Given the description of an element on the screen output the (x, y) to click on. 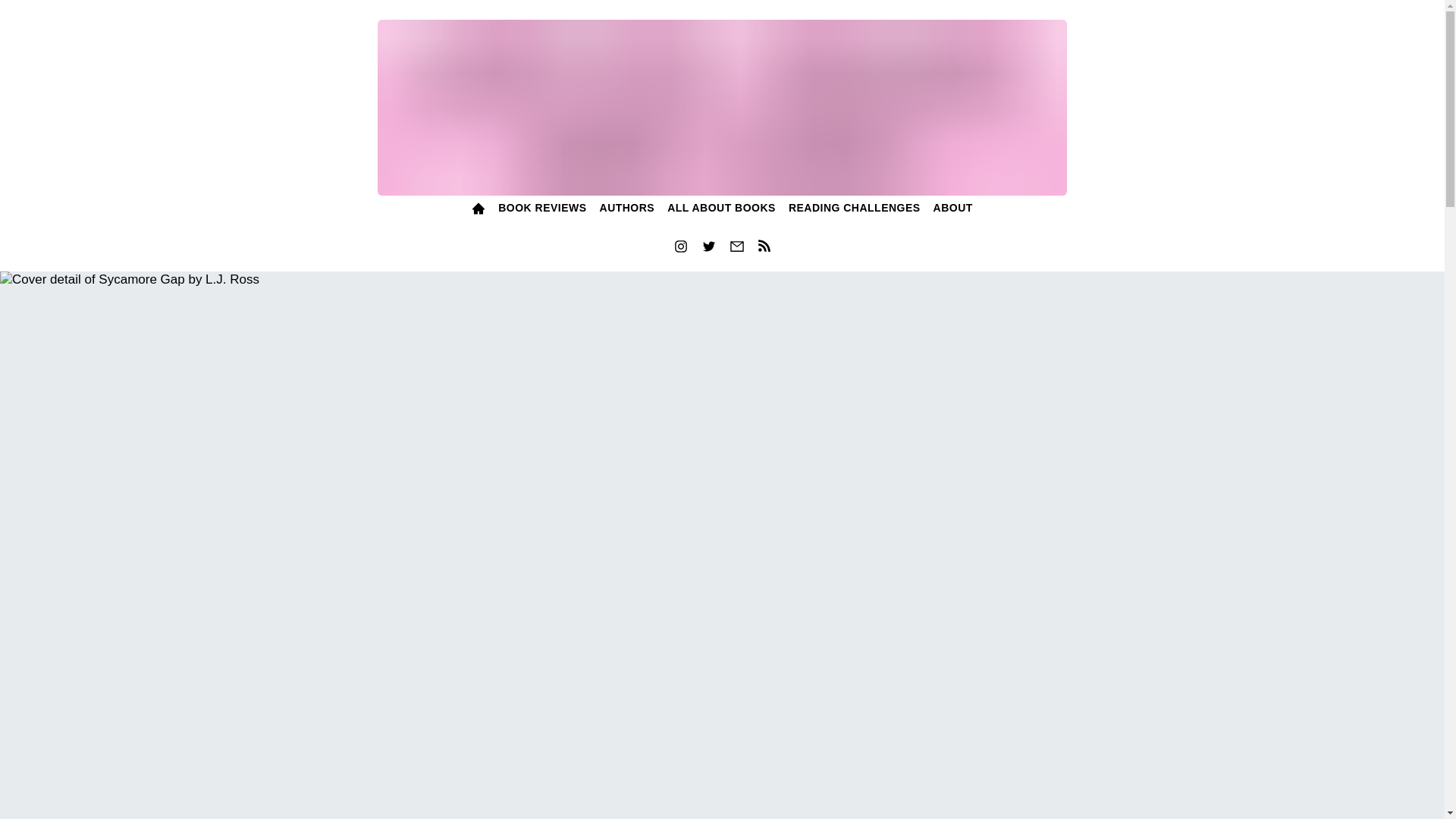
ALL ABOUT BOOKS (722, 208)
AUTHORS (626, 208)
READING CHALLENGES (853, 208)
BOOK REVIEWS (542, 208)
ABOUT (952, 208)
